Given the description of an element on the screen output the (x, y) to click on. 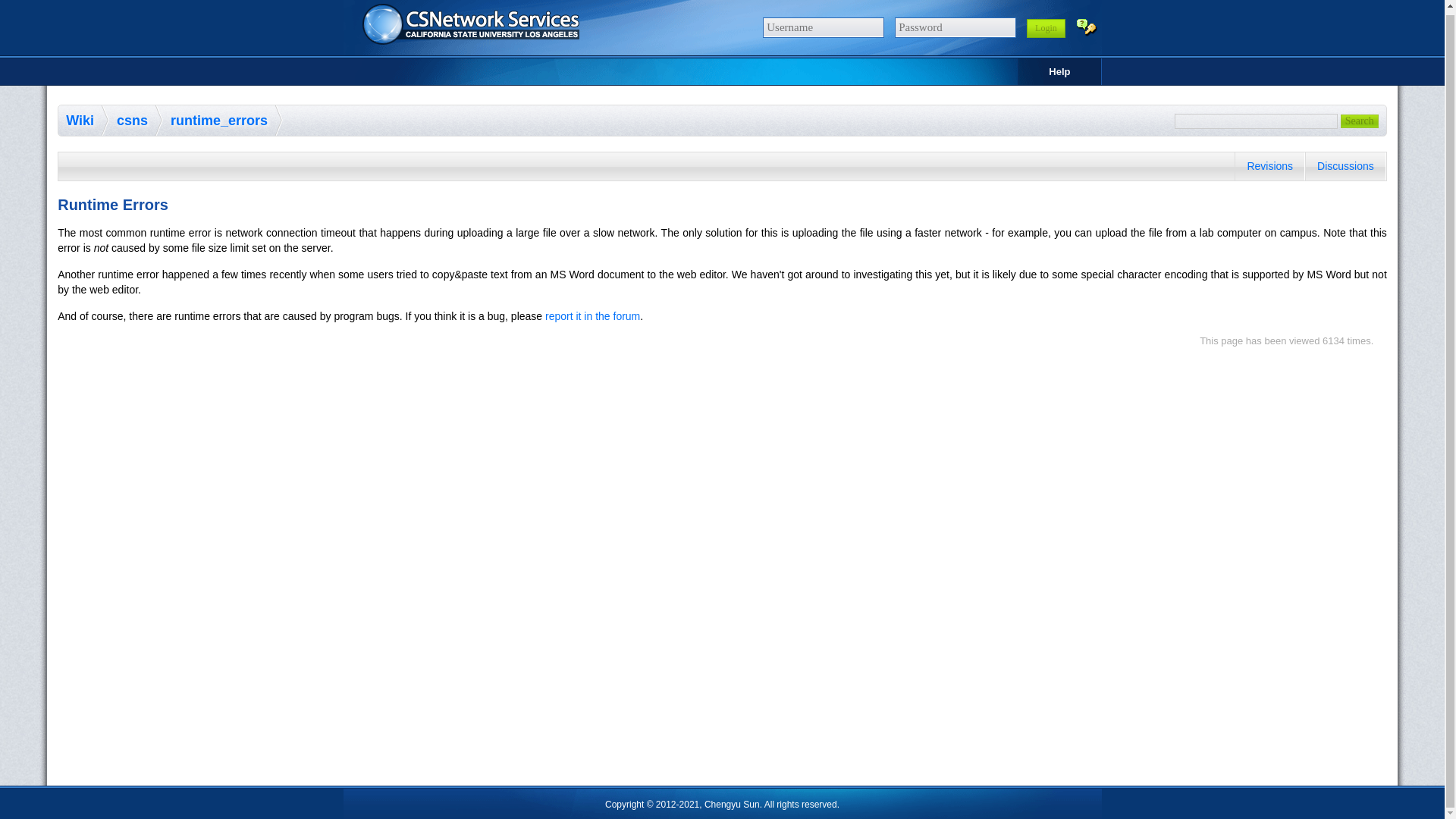
Discussions (1345, 166)
Login (1045, 27)
Revisions (1269, 166)
Search (1359, 120)
Help (1058, 71)
Search (1359, 120)
Wiki (87, 120)
report it in the forum (592, 316)
Forgot Password? (1086, 25)
Login (1045, 27)
